Given the description of an element on the screen output the (x, y) to click on. 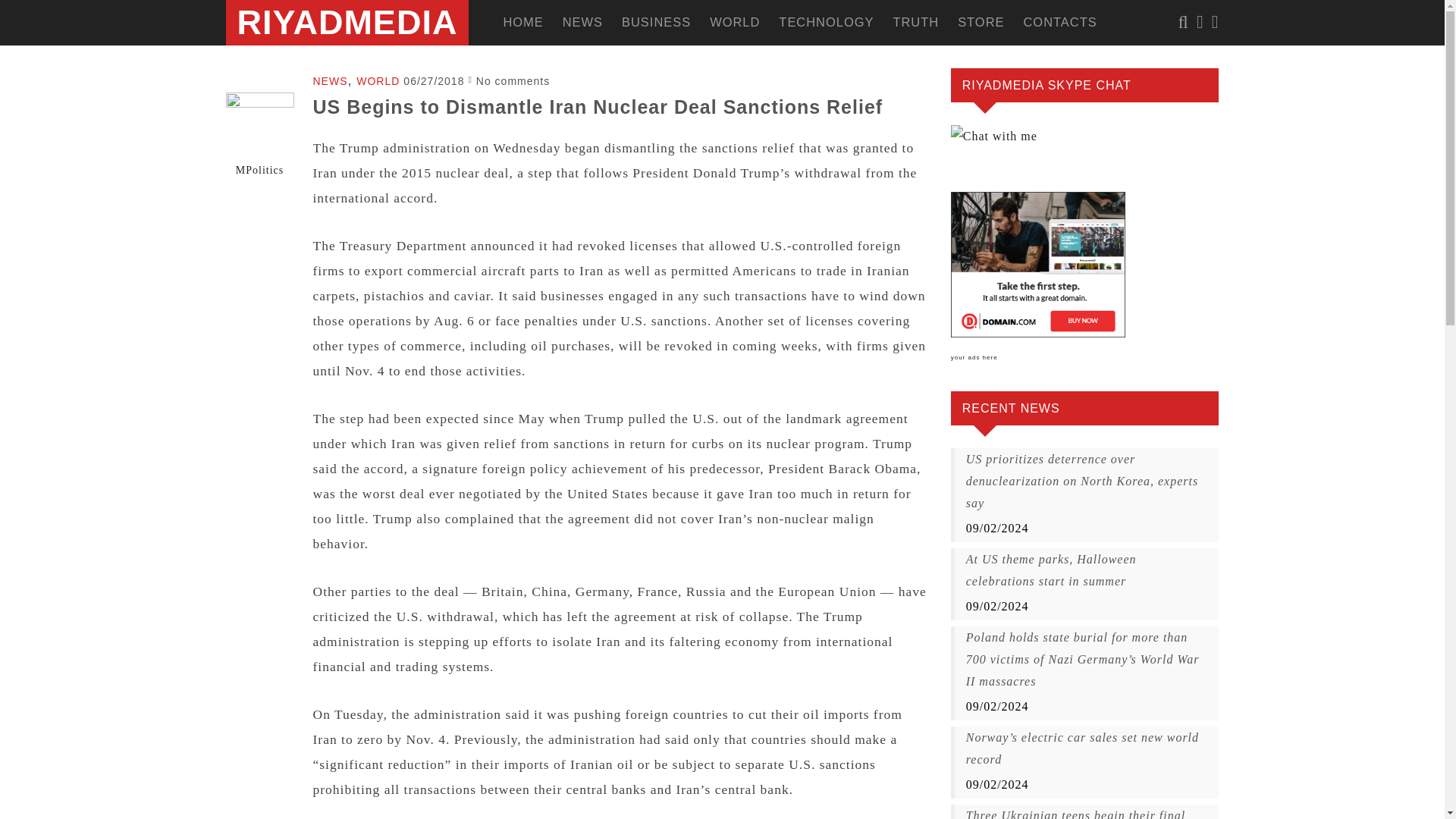
RIYADMEDIA (346, 22)
TECHNOLOGY (816, 22)
your ads here (973, 357)
MPolitics (259, 169)
At US theme parks, Halloween celebrations start in summer (1087, 569)
No comments (513, 80)
WORLD (377, 80)
BUSINESS (646, 22)
HOME (513, 22)
STORE (971, 22)
